Given the description of an element on the screen output the (x, y) to click on. 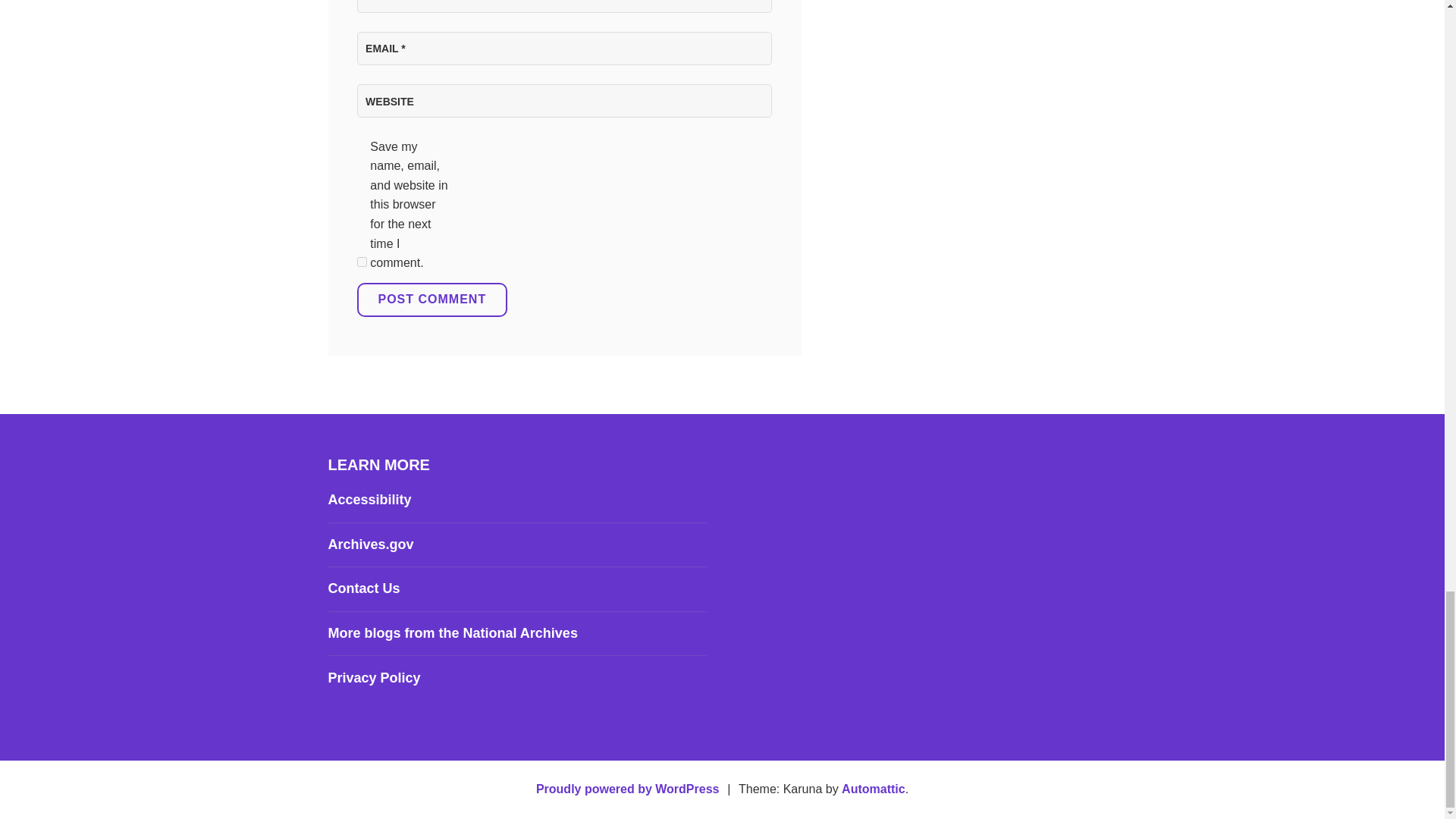
yes (361, 261)
National Archives privacy policy (373, 677)
Post Comment (431, 299)
U.S. National Archives Blogroll (451, 632)
Accessibility information on archives.gov (368, 499)
Contact information (362, 588)
Post Comment (431, 299)
